Given the description of an element on the screen output the (x, y) to click on. 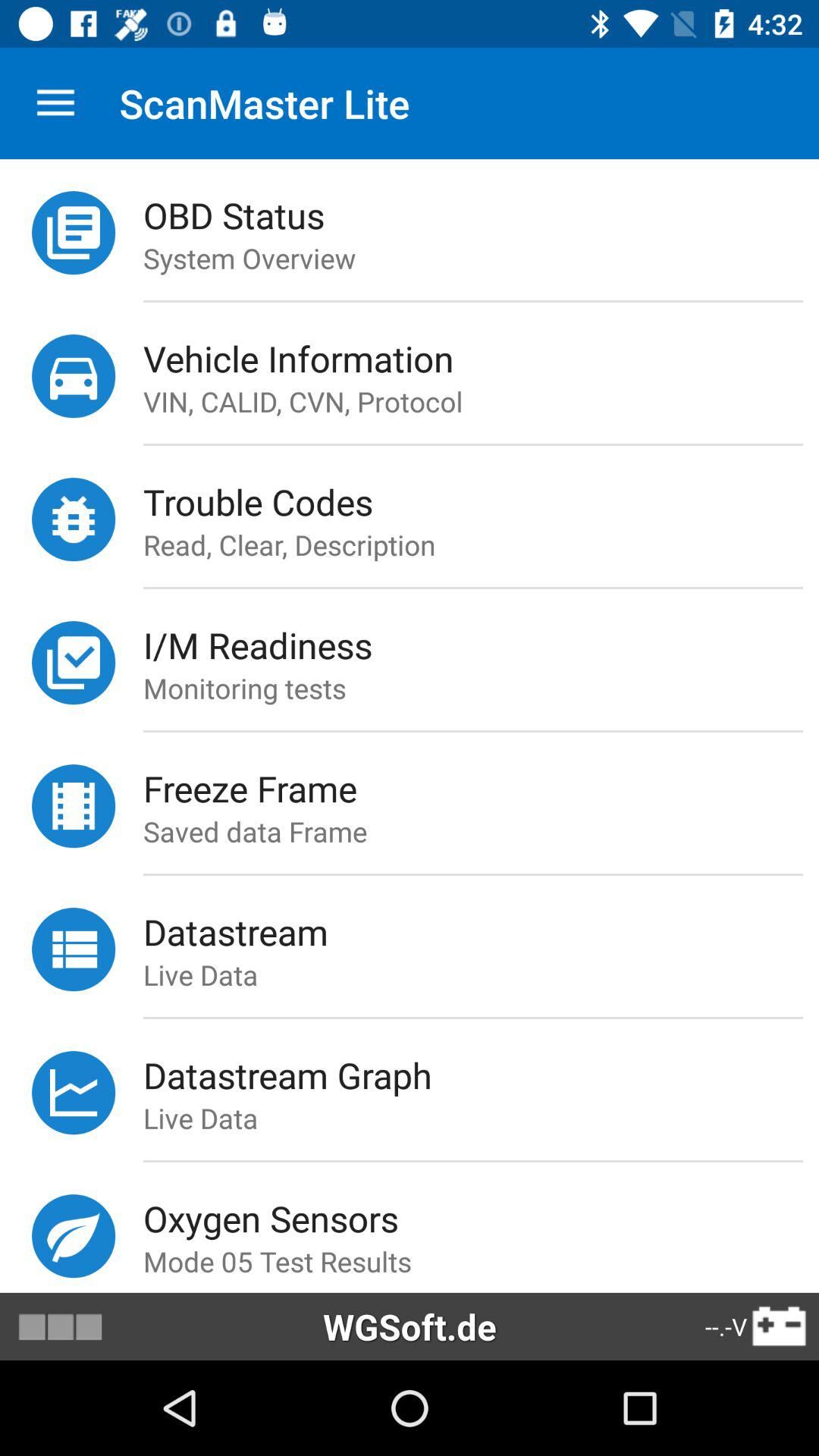
launch icon above vehicle information (473, 301)
